Given the description of an element on the screen output the (x, y) to click on. 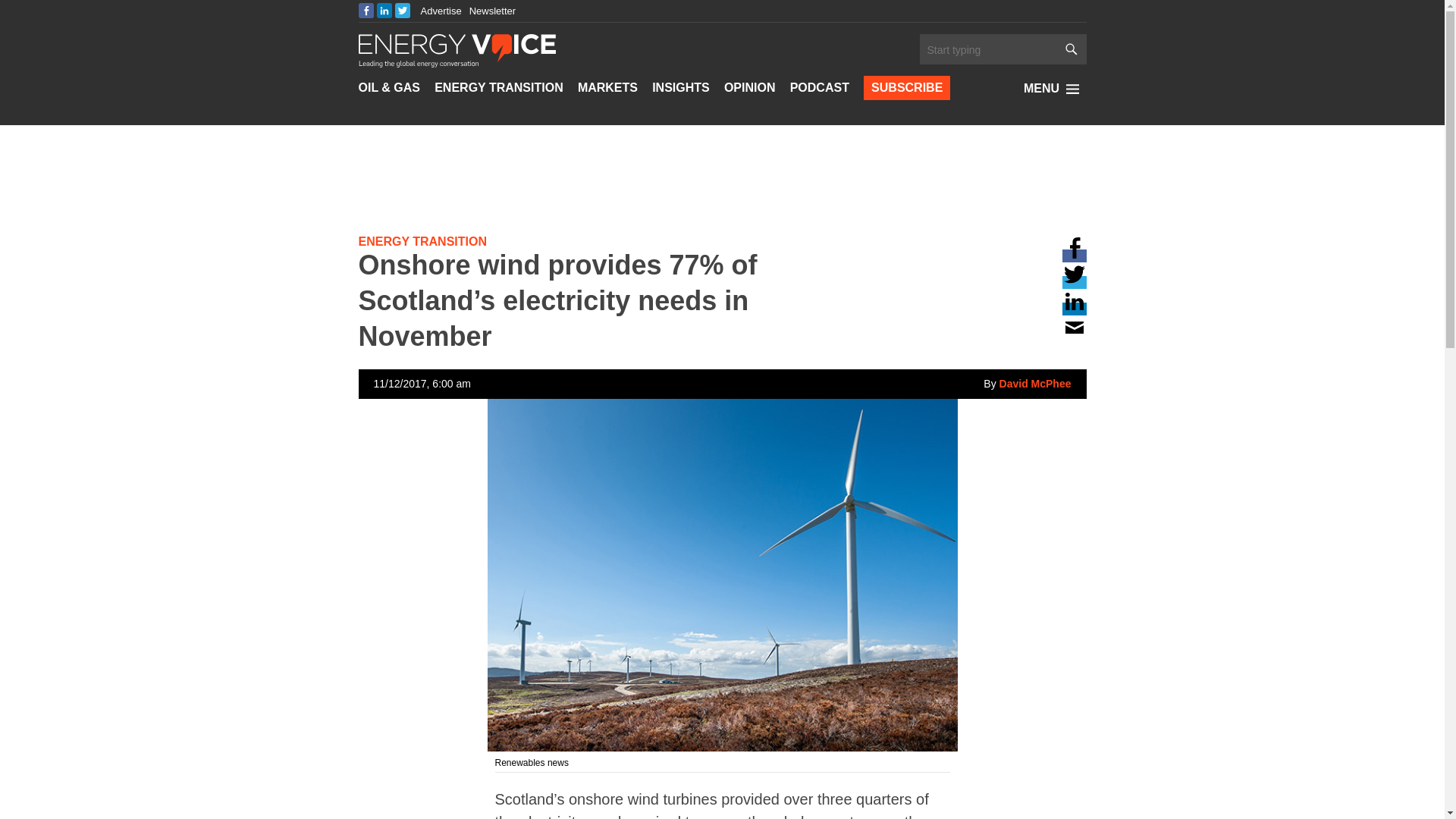
LinkedIn (383, 10)
Energy Voice (456, 49)
Email (862, 31)
Advertise (440, 11)
Email (1073, 335)
MARKETS (607, 87)
Linkedin (1073, 308)
Linkedin (862, 5)
David McPhee (1027, 383)
ENERGY TRANSITION (498, 87)
